Given the description of an element on the screen output the (x, y) to click on. 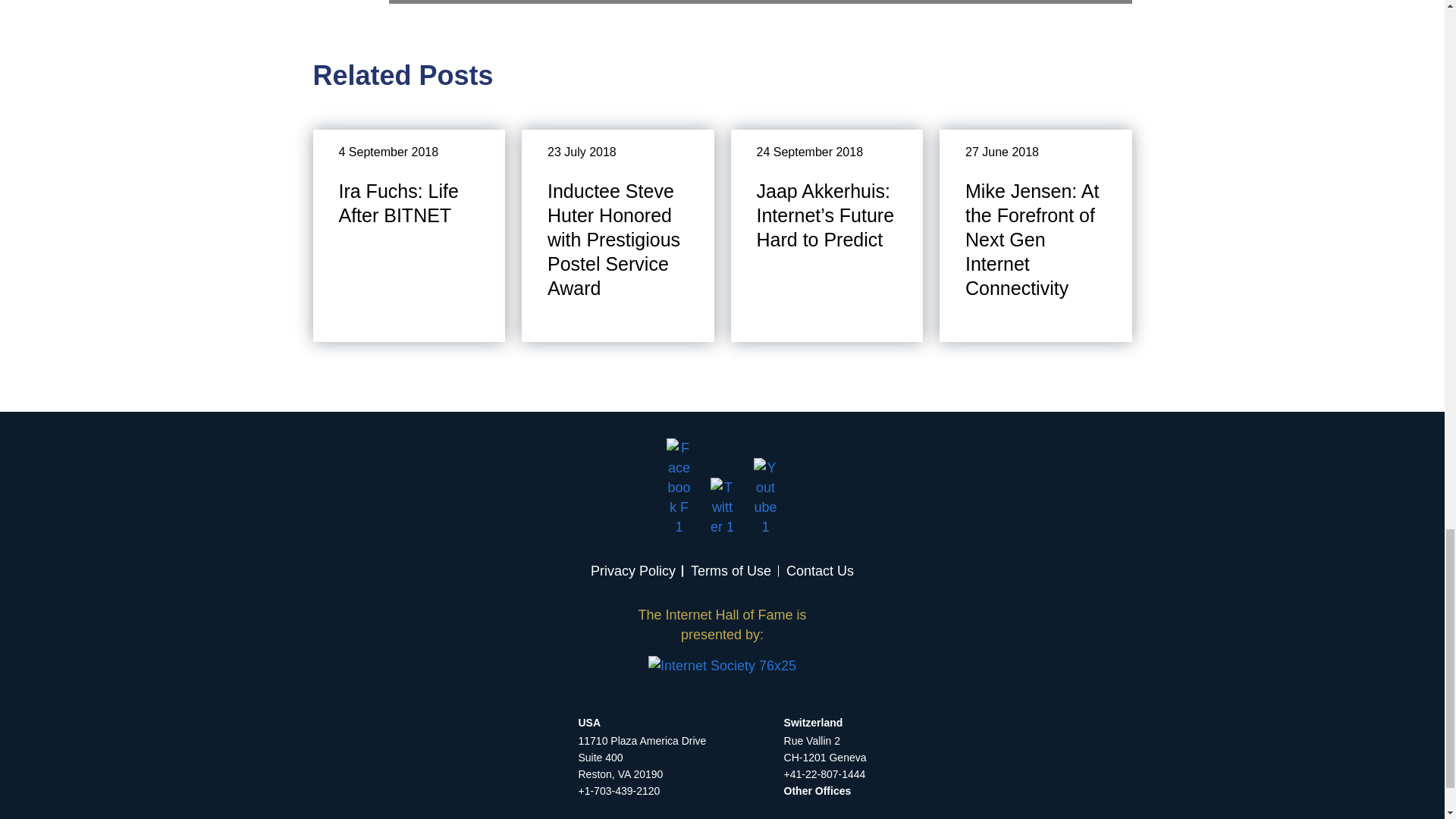
Terms of Use (730, 570)
Privacy Policy (633, 570)
Other Offices (817, 790)
Contact Us (819, 570)
